Given the description of an element on the screen output the (x, y) to click on. 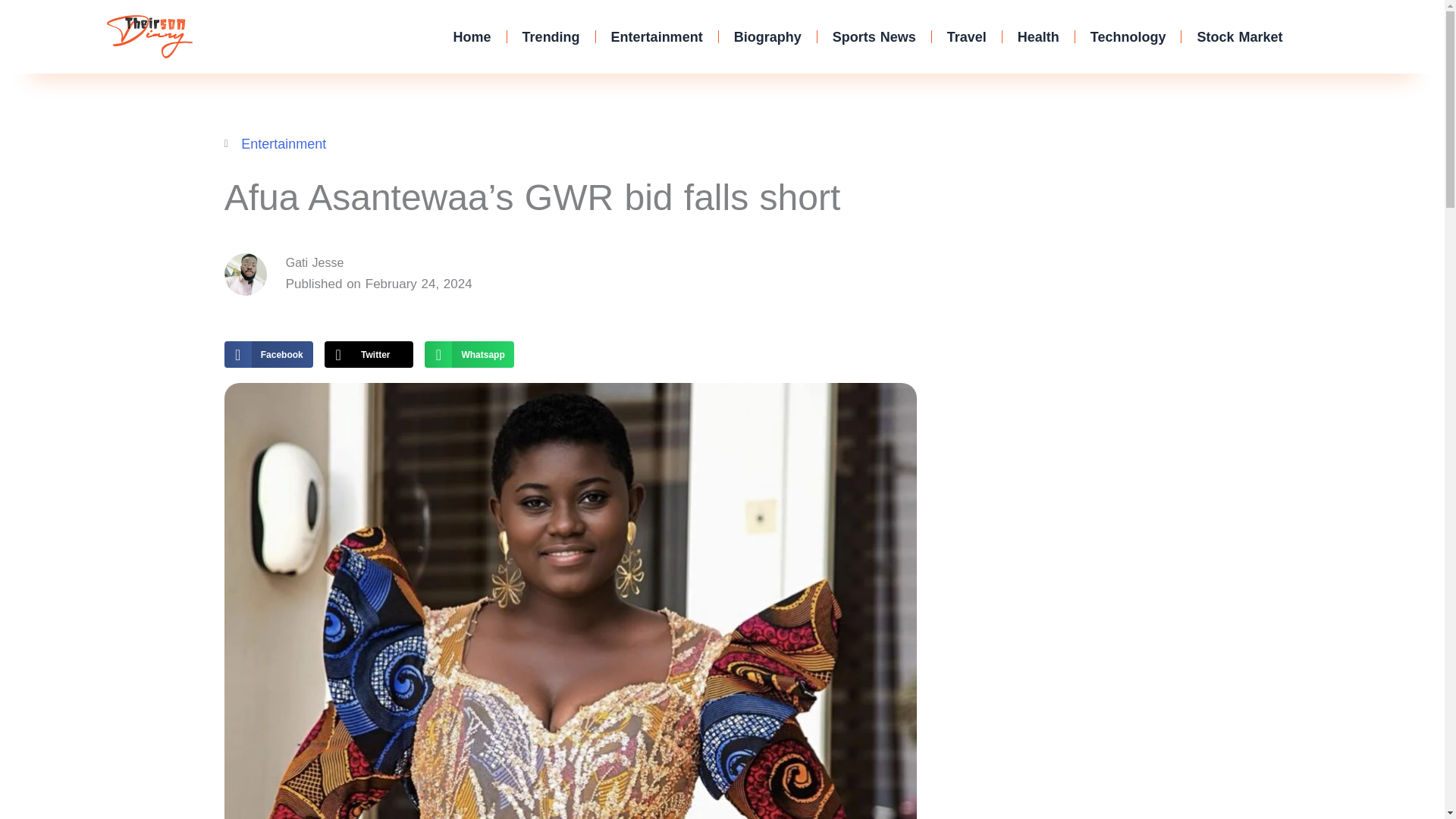
Home (469, 354)
Travel (472, 36)
Entertainment (966, 36)
Technology (283, 143)
Entertainment (268, 354)
Stock Market (1127, 36)
Health (656, 36)
Trending (1238, 36)
Biography (1038, 36)
Sports News (550, 36)
